Given the description of an element on the screen output the (x, y) to click on. 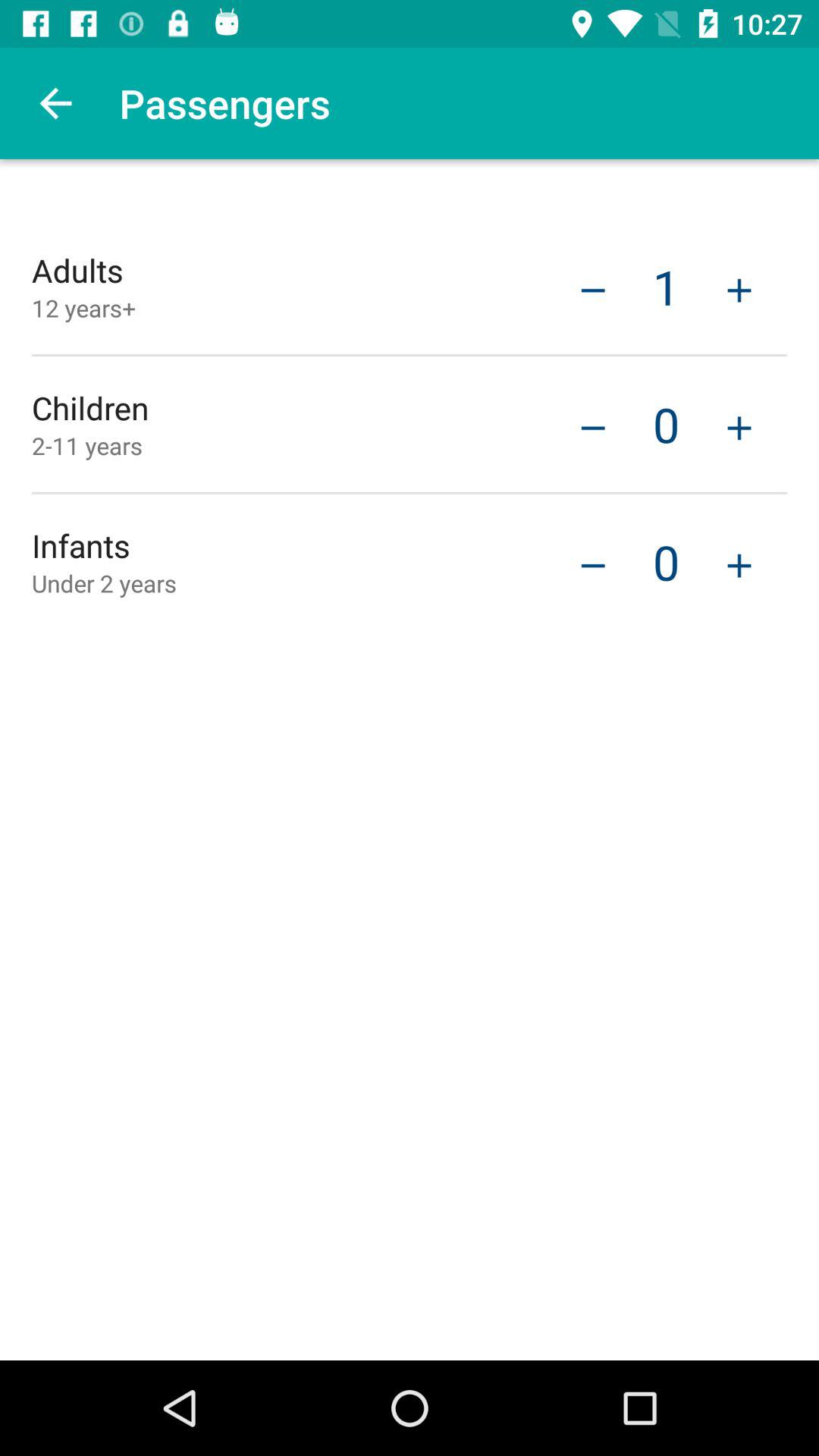
add adult to total (739, 288)
